Given the description of an element on the screen output the (x, y) to click on. 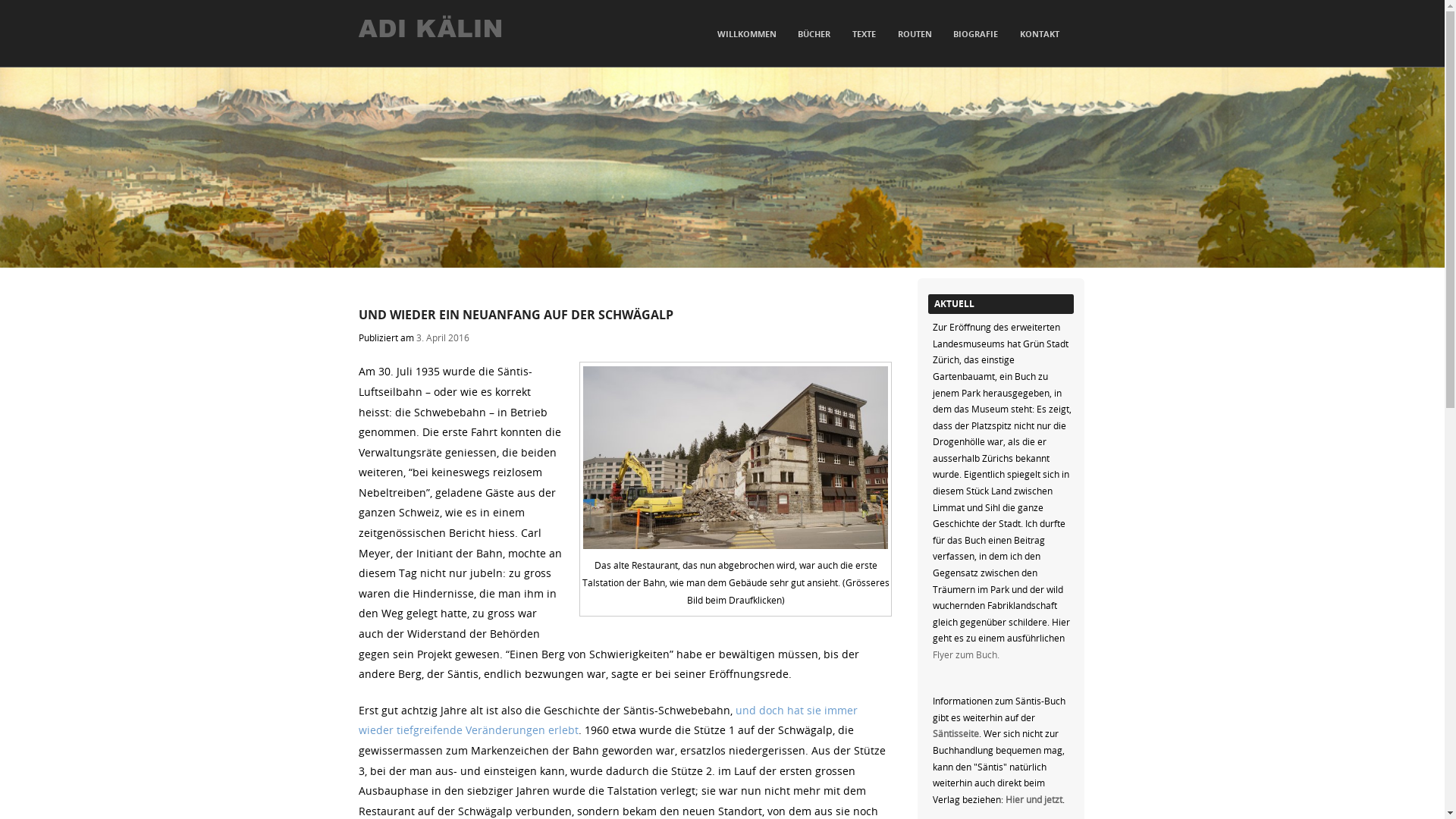
TEXTE Element type: text (863, 34)
3. April 2016 Element type: text (441, 337)
BIOGRAFIE Element type: text (975, 34)
KONTAKT Element type: text (1039, 34)
ROUTEN Element type: text (914, 34)
SKIP TO CONTENT Element type: text (619, 28)
Search Element type: text (26, 14)
Flyer zum Buch. Element type: text (965, 654)
Hier und jetzt Element type: text (1033, 799)
WILLKOMMEN Element type: text (746, 34)
